Given the description of an element on the screen output the (x, y) to click on. 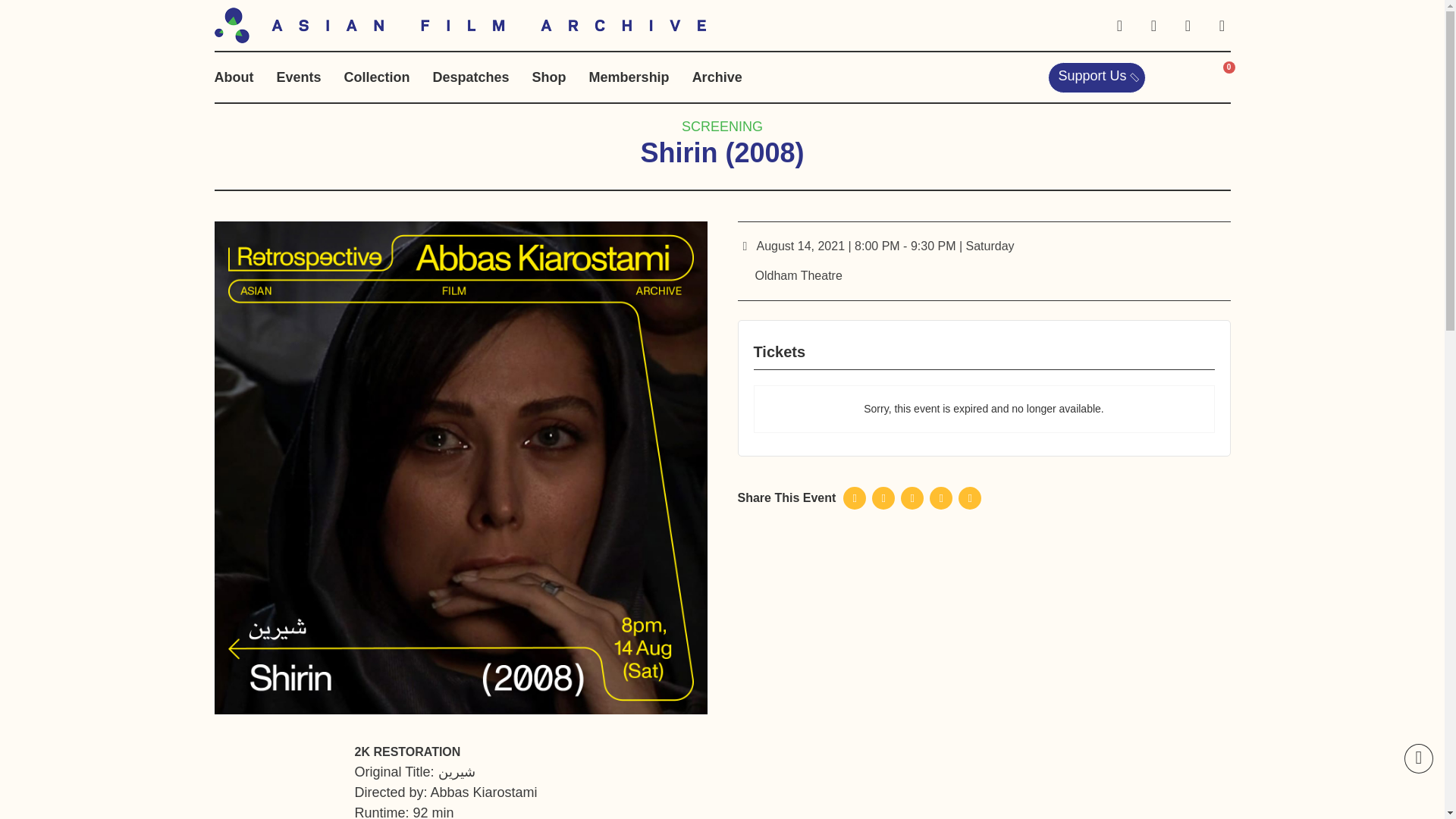
Share by Email (969, 497)
About (233, 77)
Archive (717, 77)
Collection (376, 77)
Shop (549, 77)
Events (298, 77)
Despatches (470, 77)
Membership (629, 77)
